Given the description of an element on the screen output the (x, y) to click on. 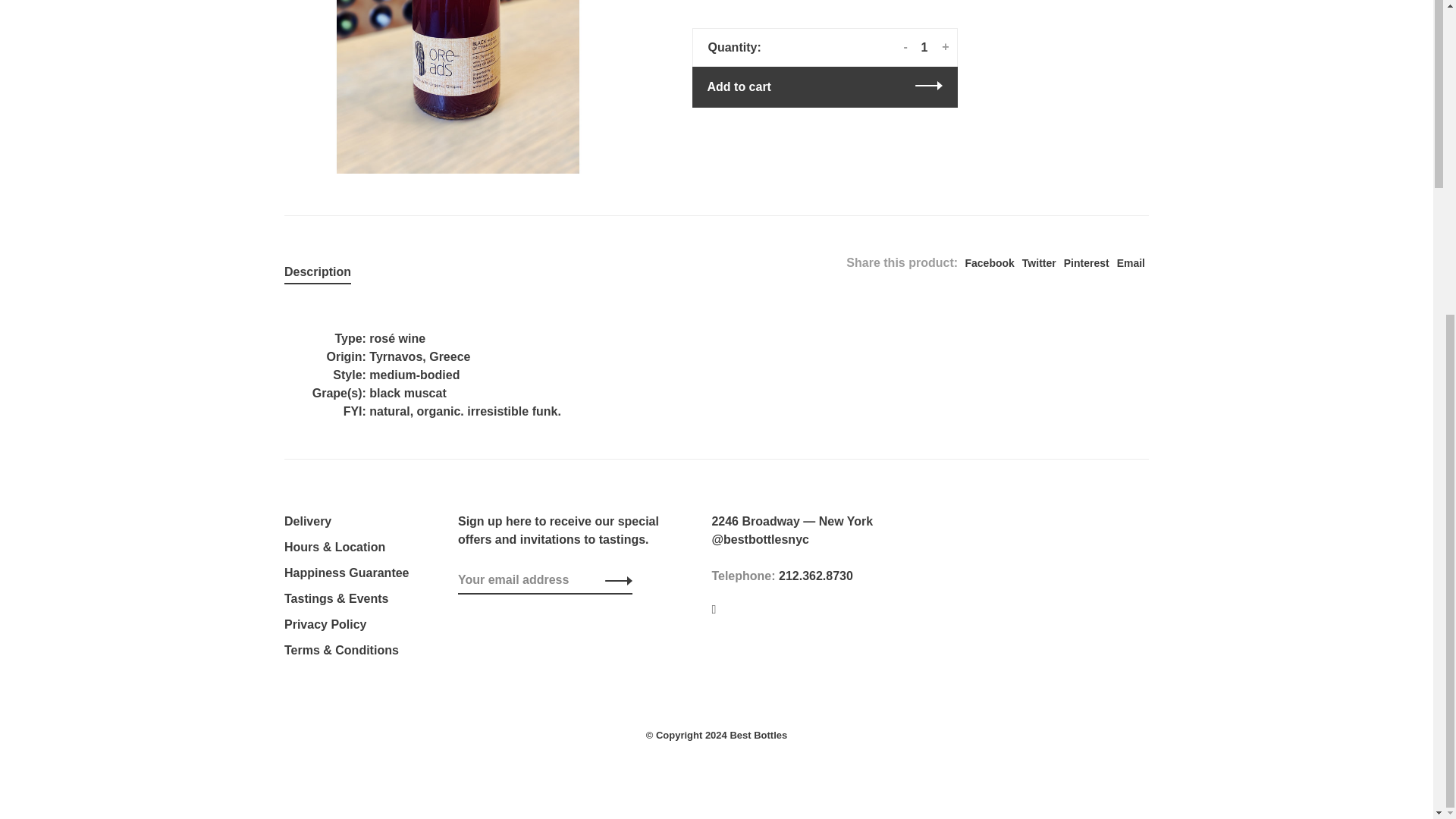
1 (924, 47)
